Given the description of an element on the screen output the (x, y) to click on. 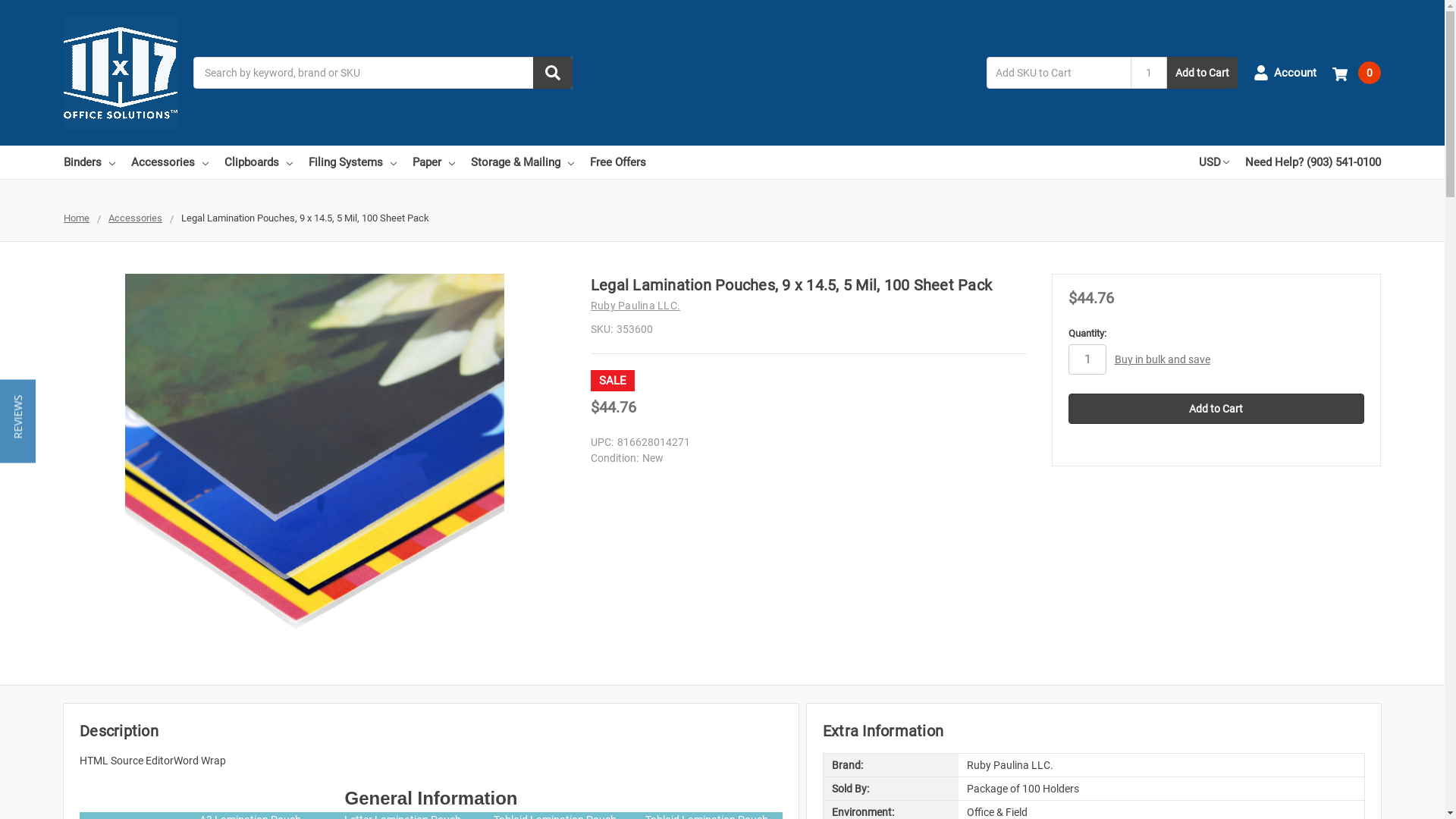
Storage & Mailing Element type: text (522, 161)
0 Element type: text (1356, 72)
Filing Systems Element type: text (352, 161)
Home Element type: text (76, 217)
Clipboards Element type: text (258, 161)
Add to Cart Element type: text (1216, 408)
Free Offers Element type: text (617, 161)
Paper Element type: text (433, 161)
Accessories Element type: text (169, 161)
Add to Cart Element type: text (1202, 72)
Need Help? (903) 541-0100 Element type: text (1312, 161)
Accessories Element type: text (135, 217)
USD Element type: text (1213, 161)
11x17.com Element type: hover (120, 72)
Legal Lamination Pouches, 9 x 14.5, 5 Mil, 100 Sheet Pack Element type: hover (314, 462)
Ruby Paulina LLC. Element type: text (635, 305)
Buy in bulk and save Element type: text (1162, 359)
Binders Element type: text (89, 161)
Account Element type: text (1284, 72)
